Given the description of an element on the screen output the (x, y) to click on. 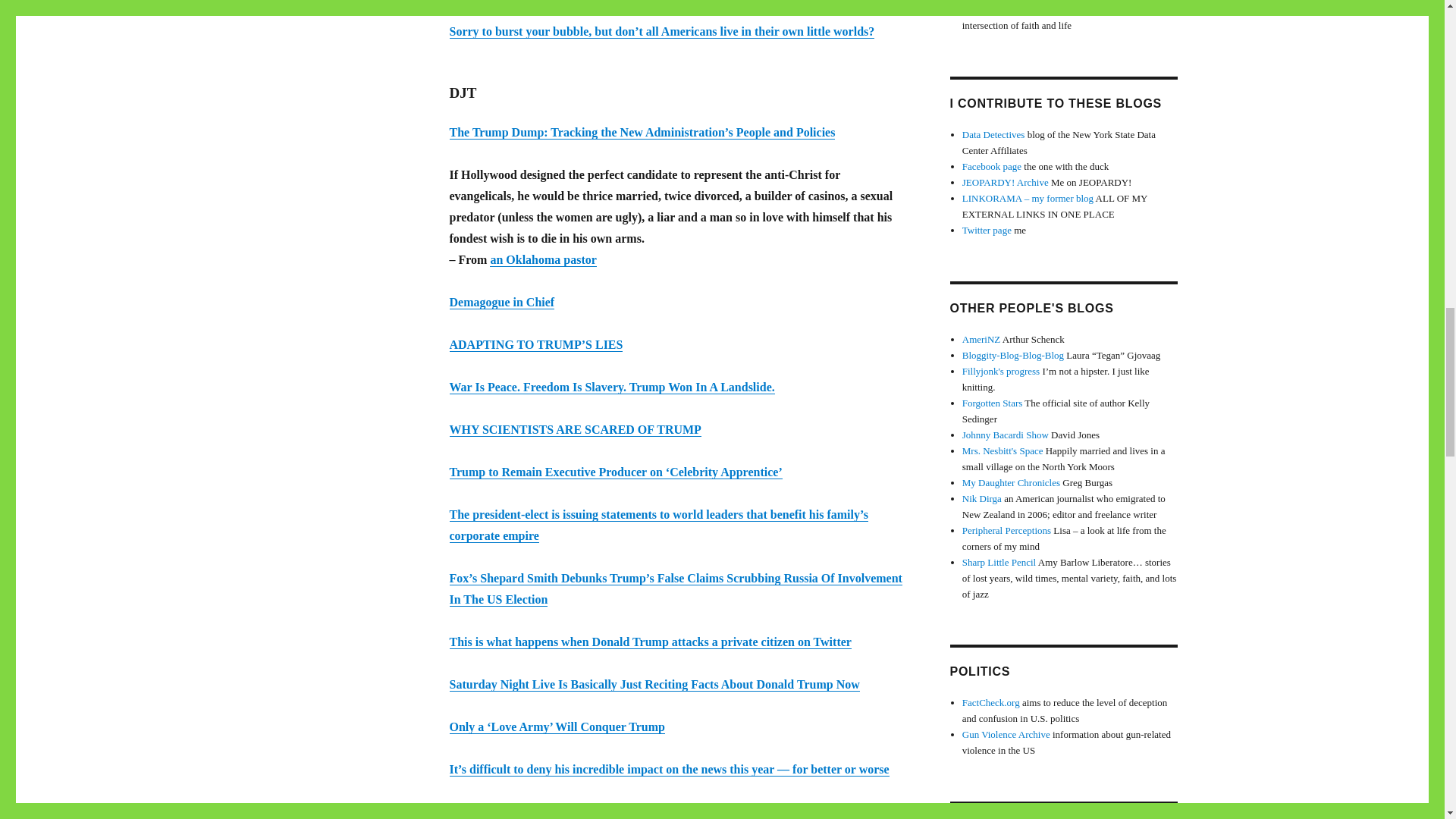
Demagogue in Chief (501, 301)
War Is Peace. Freedom Is Slavery. Trump Won In A Landslide. (611, 386)
an Oklahoma pastor (542, 259)
